Given the description of an element on the screen output the (x, y) to click on. 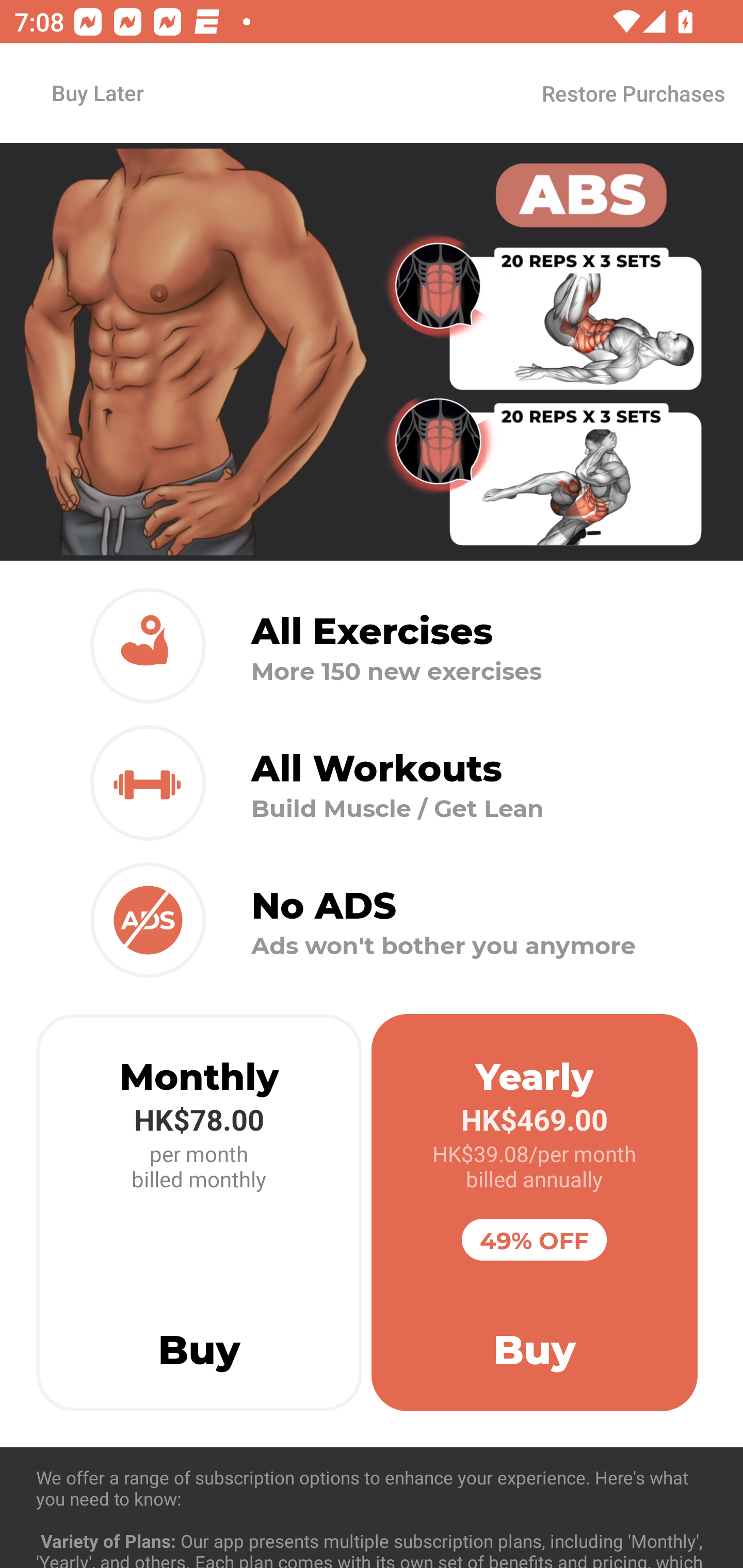
Restore Purchases (632, 92)
Buy Later (96, 92)
Monthly HK$78.00 per month
billed monthly Buy (199, 1212)
